Given the description of an element on the screen output the (x, y) to click on. 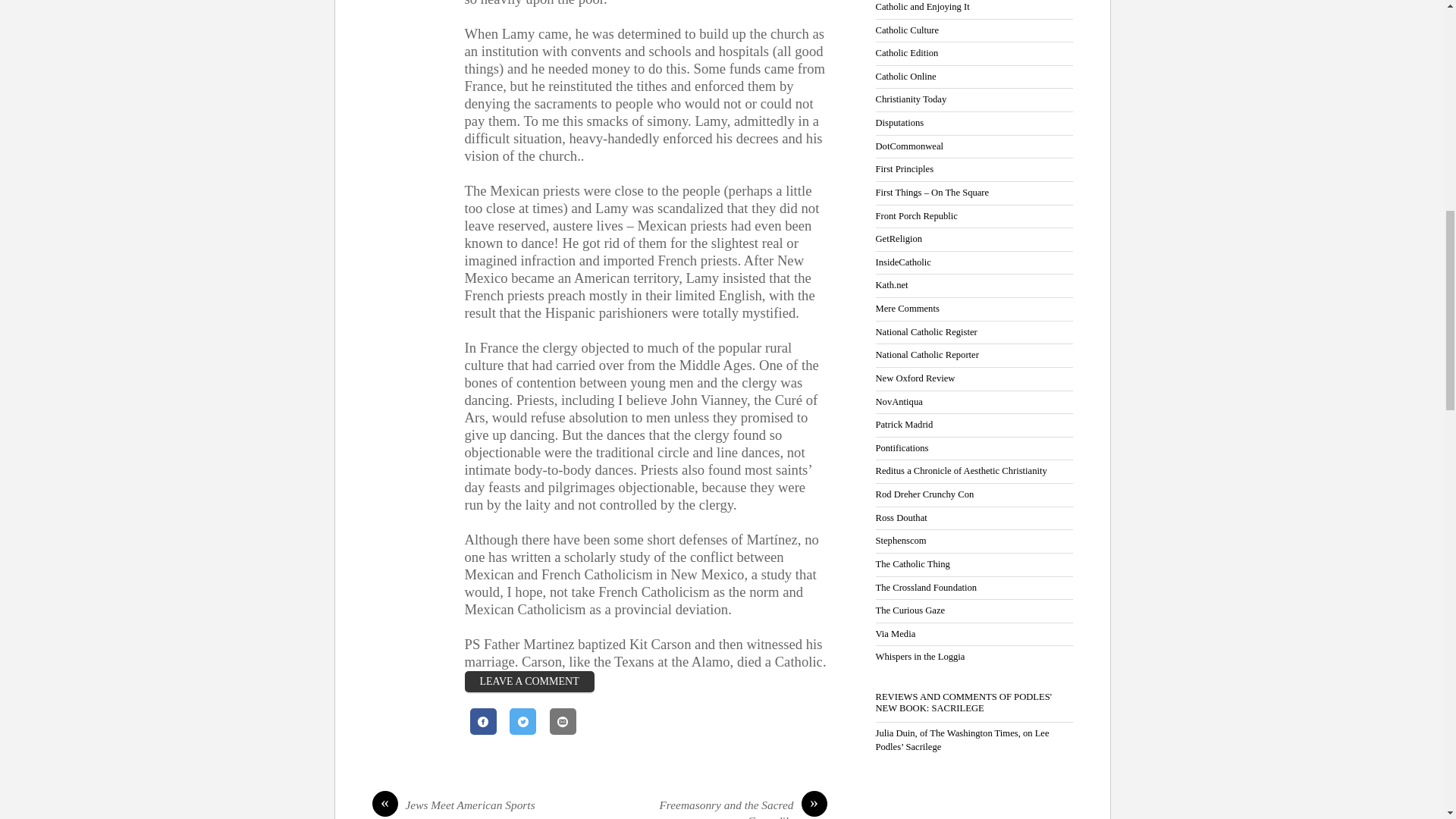
Disputations (899, 122)
LEAVE A COMMENT (529, 681)
Catholic and Enjoying It (922, 6)
Catholic Online (905, 76)
First Principles (904, 168)
Christianity Today (910, 99)
DotCommonweal (909, 145)
